Given the description of an element on the screen output the (x, y) to click on. 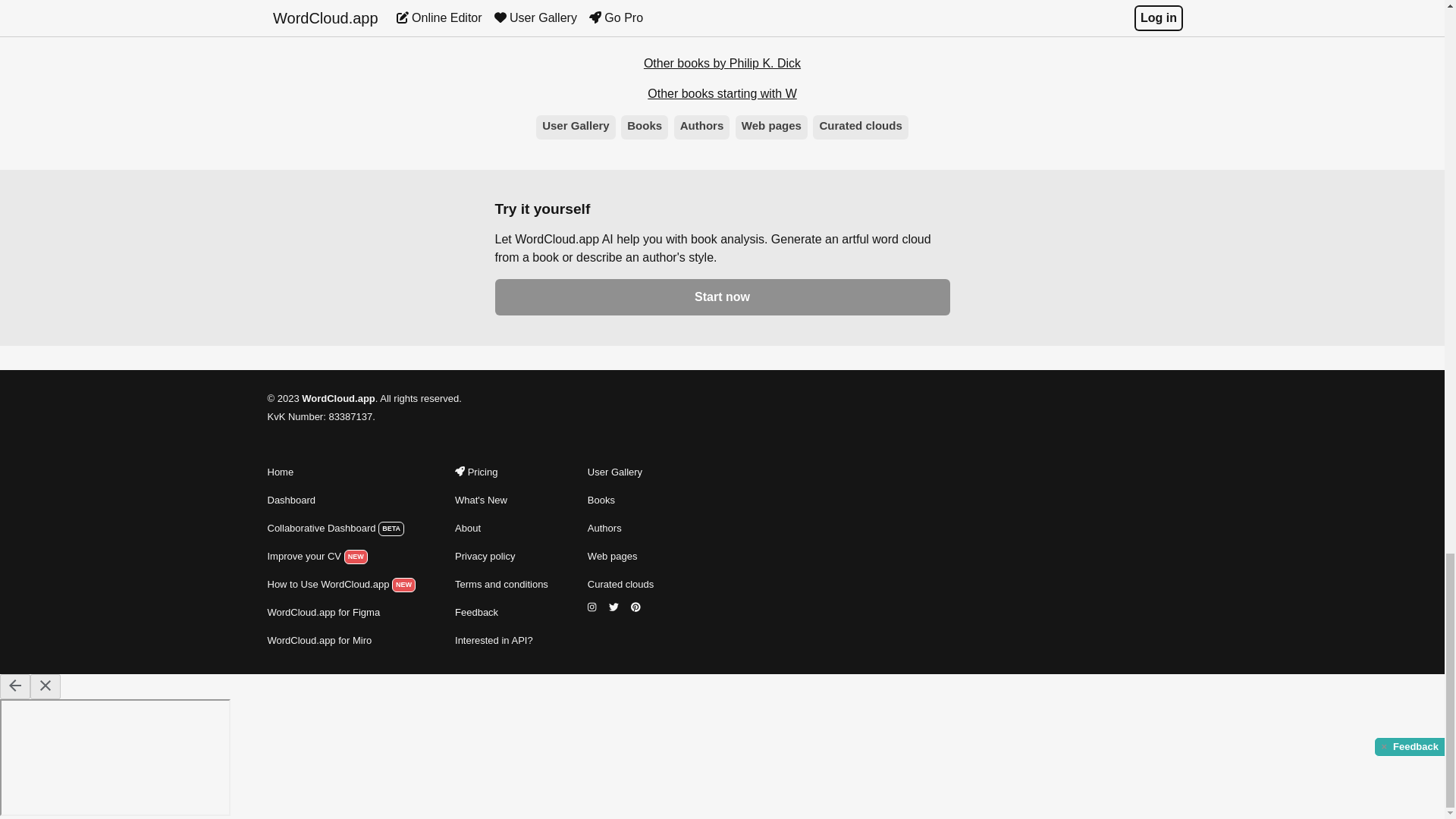
How to Use WordCloud.app NEW (340, 584)
Feedback (501, 612)
Pricing (501, 472)
Feedback (501, 612)
Books (644, 127)
Start now (722, 297)
Explore User-Created Word Clouds (620, 472)
Curated clouds (859, 127)
WordCloud.app dashboard (340, 500)
WordCloud.app: word cloud builder (340, 472)
